Given the description of an element on the screen output the (x, y) to click on. 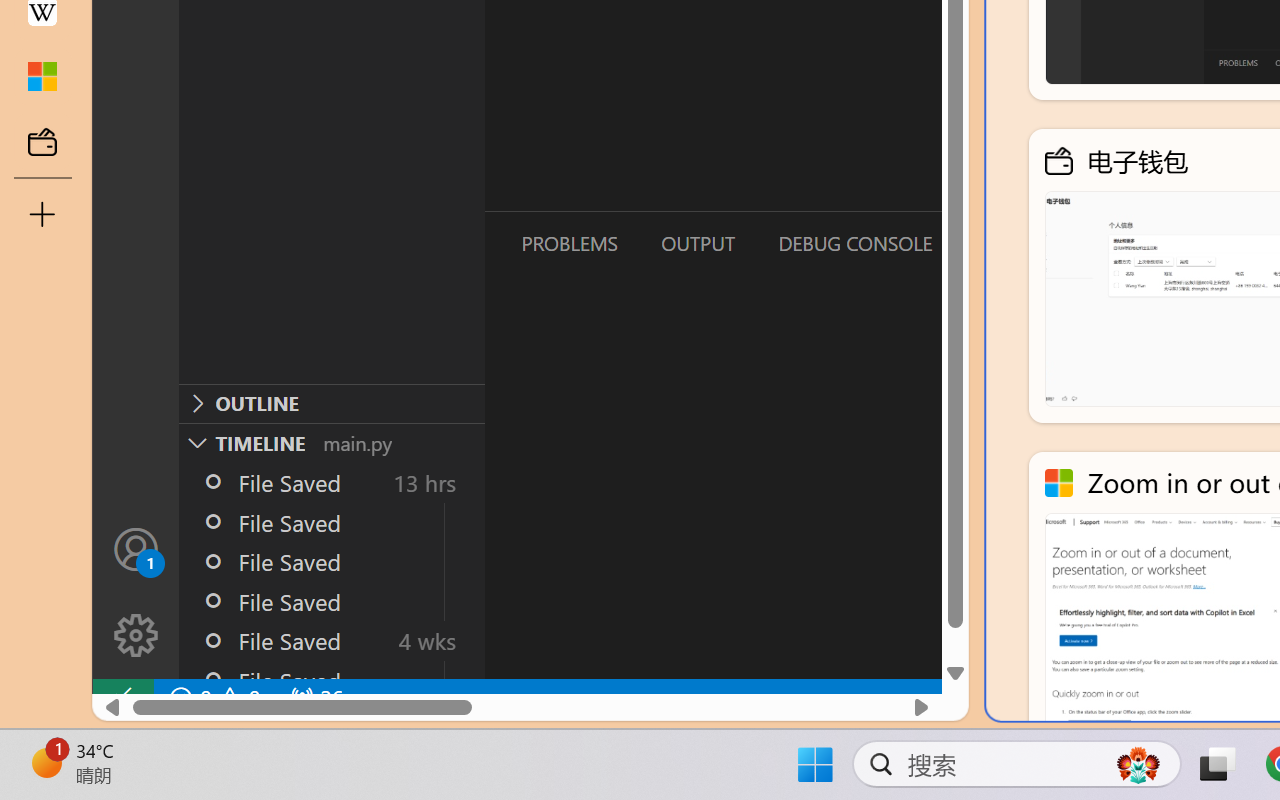
Outline Section (331, 403)
Debug Console (Ctrl+Shift+Y) (854, 243)
No Problems (212, 698)
Manage (135, 635)
